Given the description of an element on the screen output the (x, y) to click on. 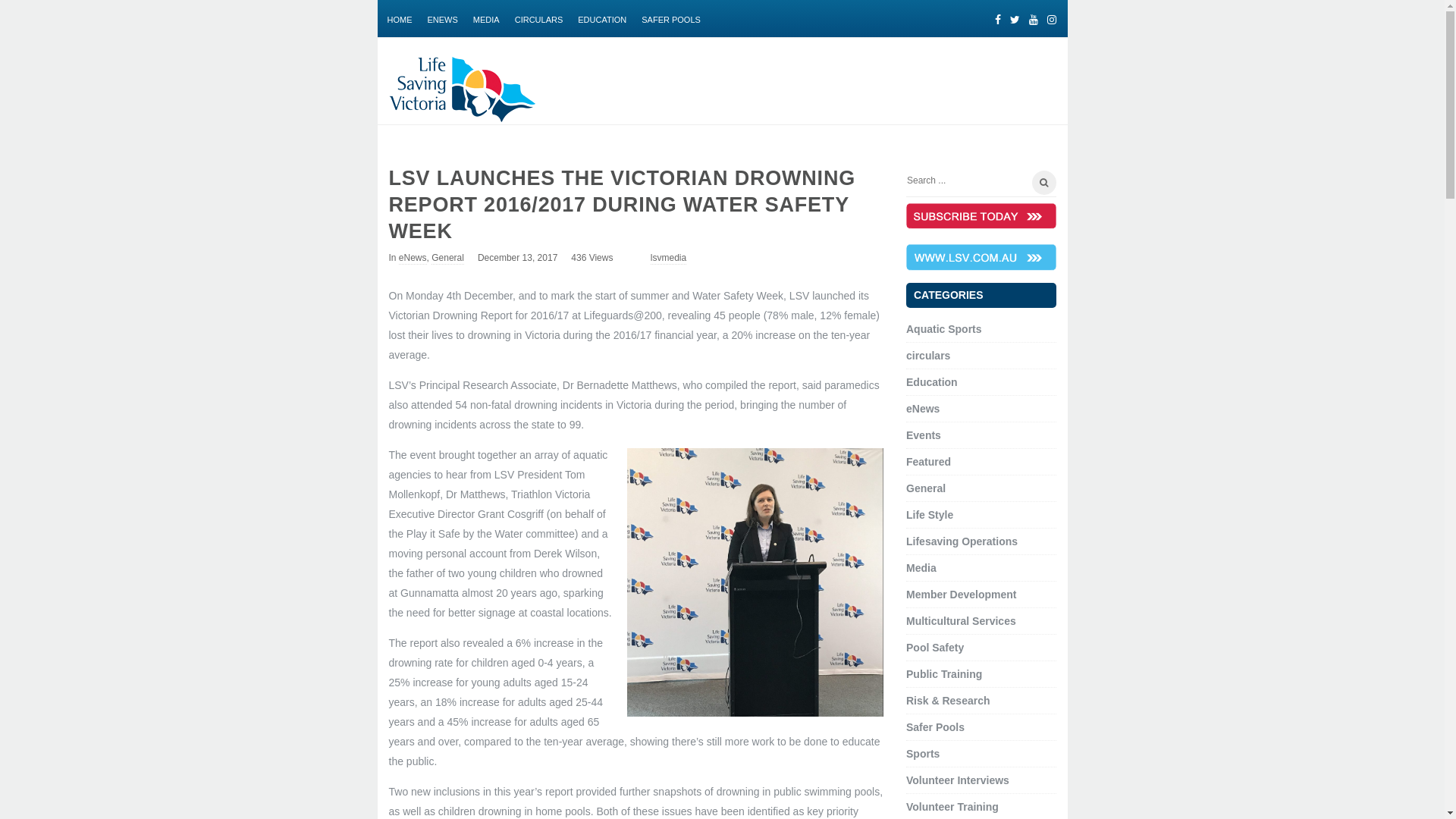
Multicultural Services Element type: text (961, 621)
Education Element type: text (931, 382)
Media Element type: text (921, 567)
Events Element type: text (923, 435)
eNews Element type: text (412, 258)
Lifesaving Operations Element type: text (961, 541)
Sports Element type: text (922, 753)
Risk & Research Element type: text (948, 700)
SAFER POOLS Element type: text (670, 18)
General Element type: text (447, 258)
Safer Pools Element type: text (935, 727)
CIRCULARS Element type: text (539, 18)
Twitter Element type: hover (1014, 14)
circulars Element type: text (928, 355)
MEDIA Element type: text (486, 18)
General Element type: text (925, 488)
Public Training Element type: text (944, 674)
Pool Safety Element type: text (934, 647)
Instagram Element type: hover (1050, 14)
Volunteer Training Element type: text (952, 806)
Featured Element type: text (928, 461)
Volunteer Interviews Element type: text (957, 780)
lsvmedia Element type: text (668, 258)
ENEWS Element type: text (442, 18)
Life Style Element type: text (929, 514)
Member Development Element type: text (961, 594)
Youtube Element type: hover (1032, 14)
EDUCATION Element type: text (601, 18)
Aquatic Sports Element type: text (944, 329)
eNews Element type: text (922, 408)
Facebook Element type: hover (997, 14)
Search for: Element type: hover (981, 183)
HOME Element type: text (399, 18)
